Given the description of an element on the screen output the (x, y) to click on. 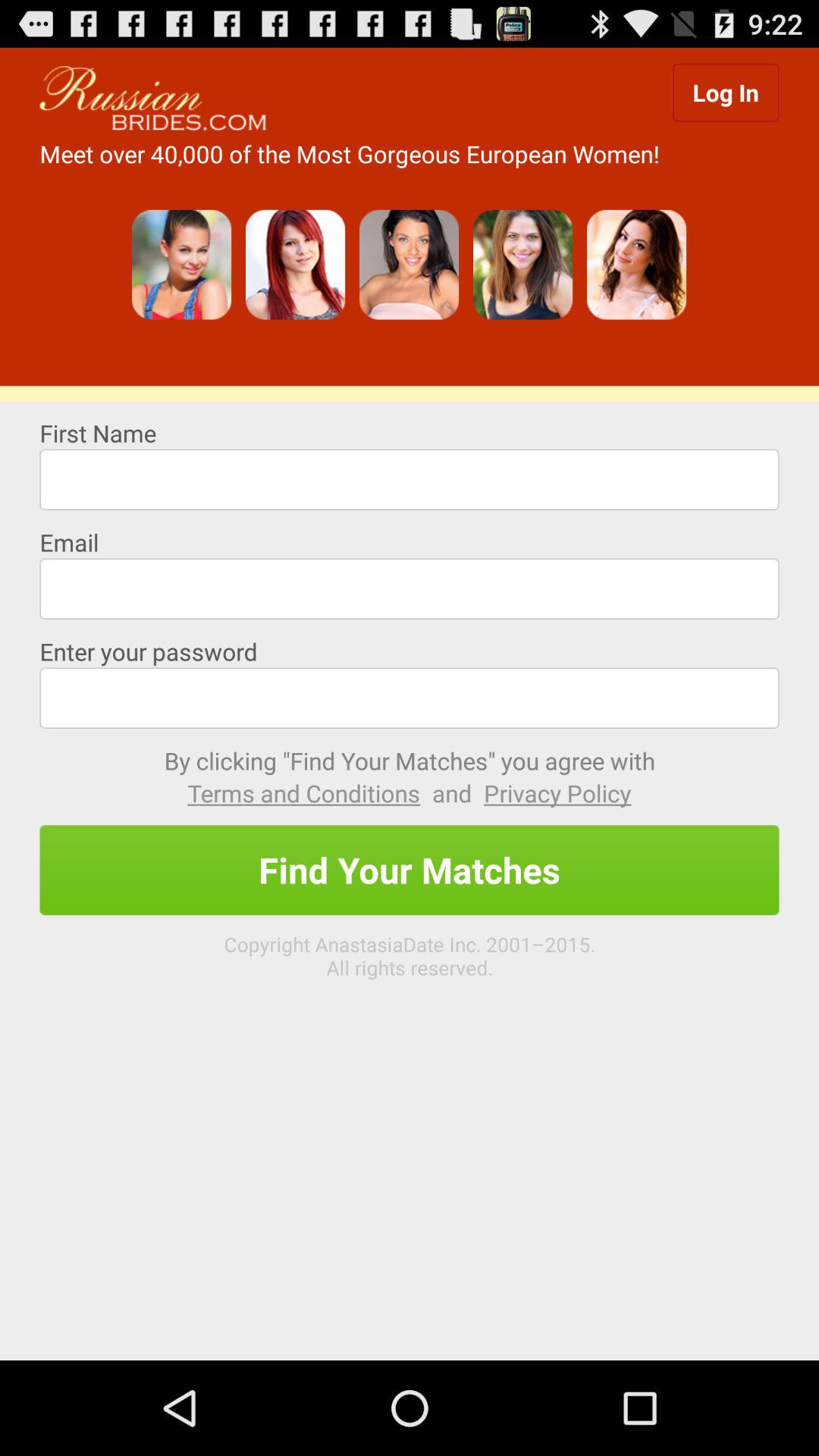
nam (409, 479)
